Given the description of an element on the screen output the (x, y) to click on. 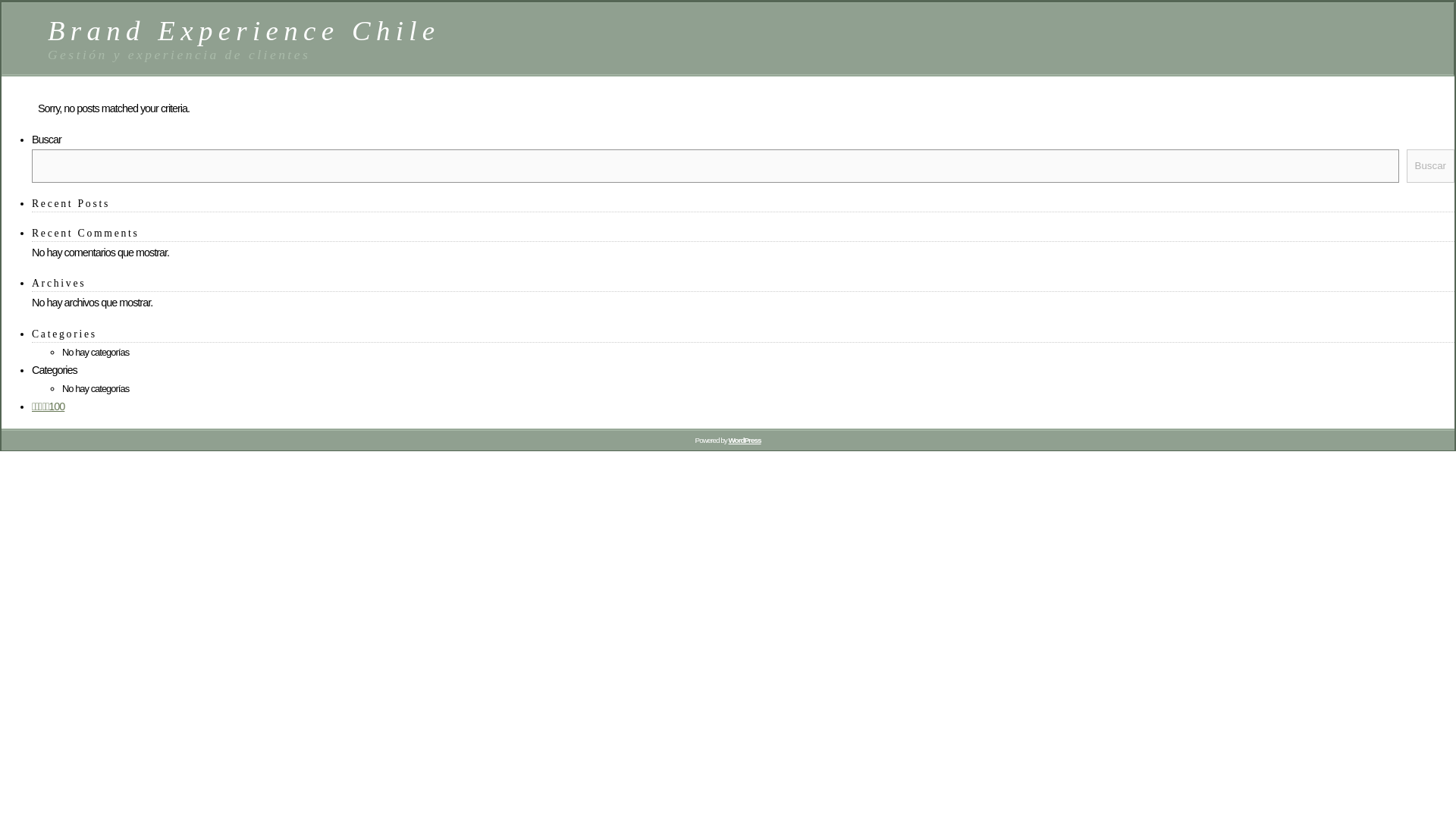
Brand Experience Chile (244, 30)
WordPress (744, 439)
